Given the description of an element on the screen output the (x, y) to click on. 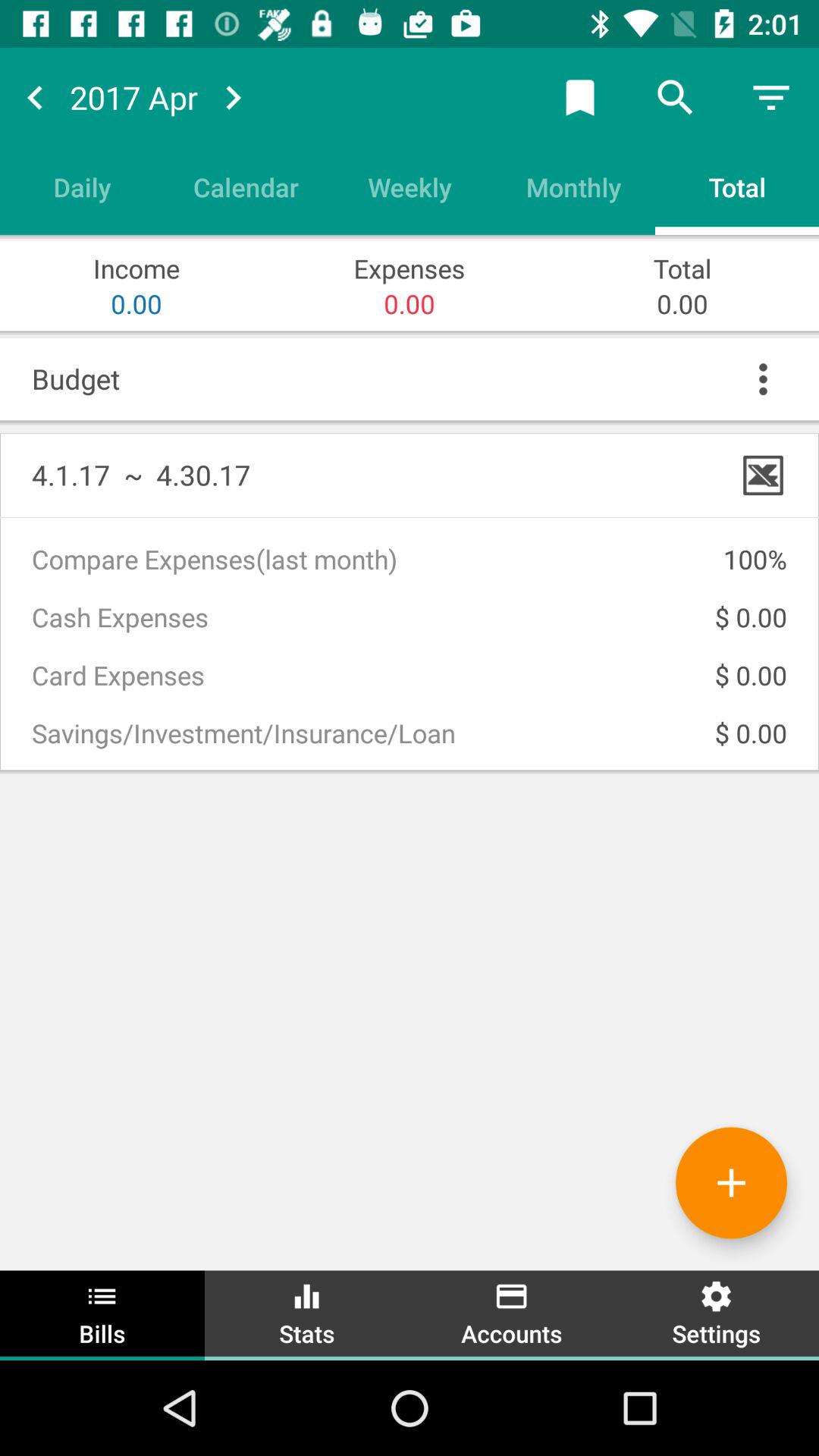
turn on item next to weekly item (245, 186)
